Given the description of an element on the screen output the (x, y) to click on. 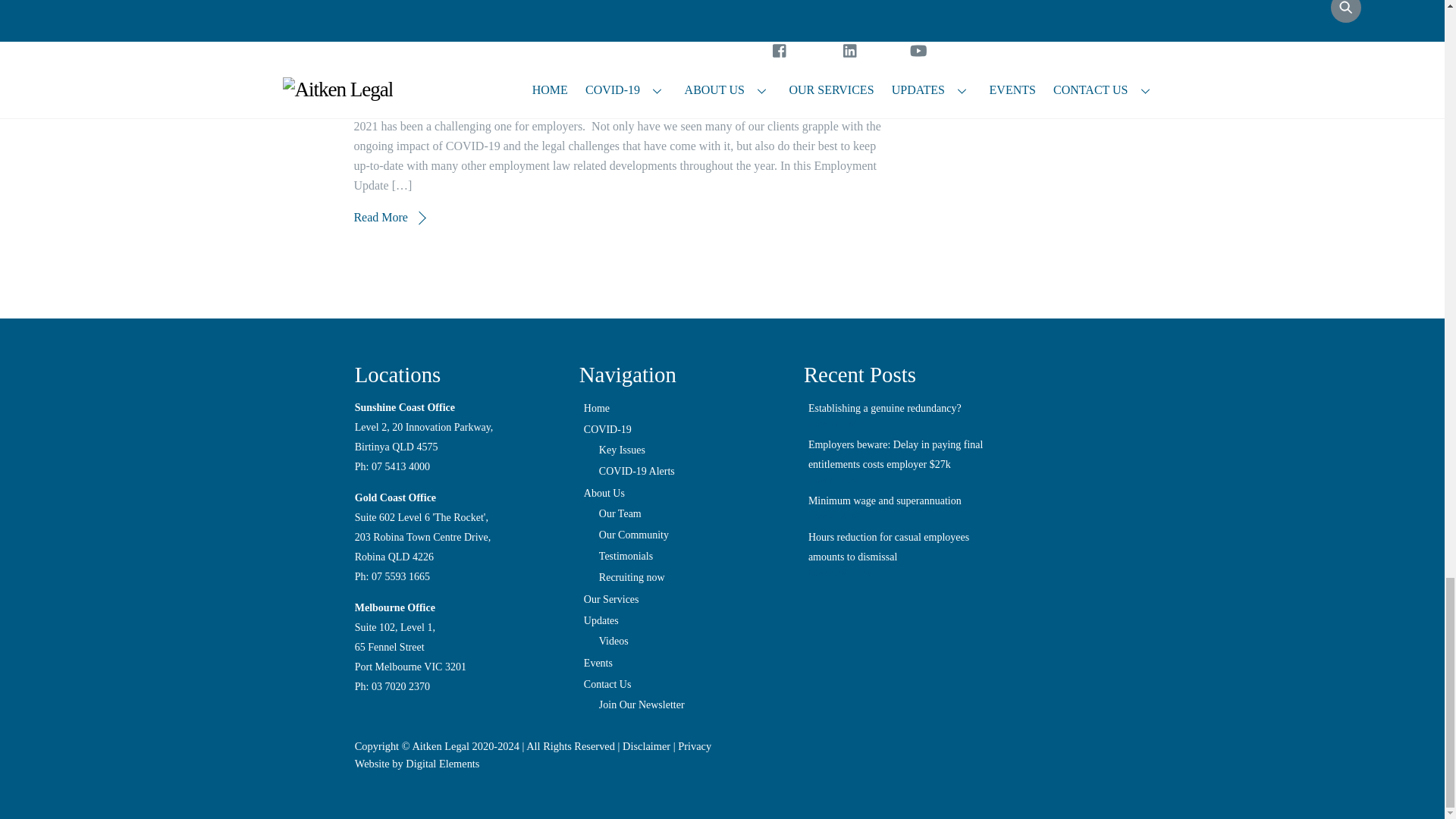
review 2 (309, 37)
